Given the description of an element on the screen output the (x, y) to click on. 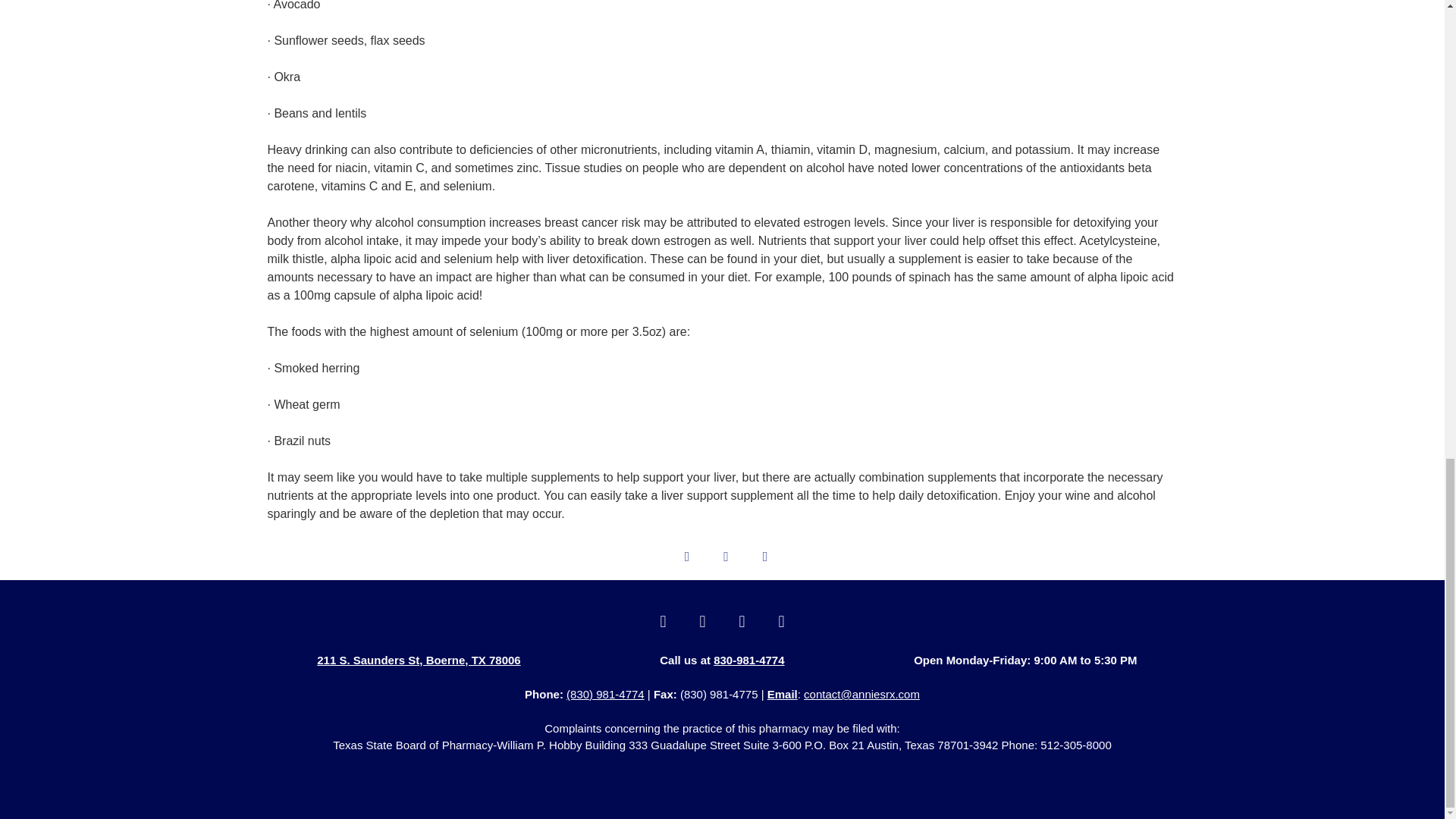
Email (782, 694)
211 S. Saunders St, Boerne, TX 78006 (418, 659)
830-981-4774 (748, 659)
